Given the description of an element on the screen output the (x, y) to click on. 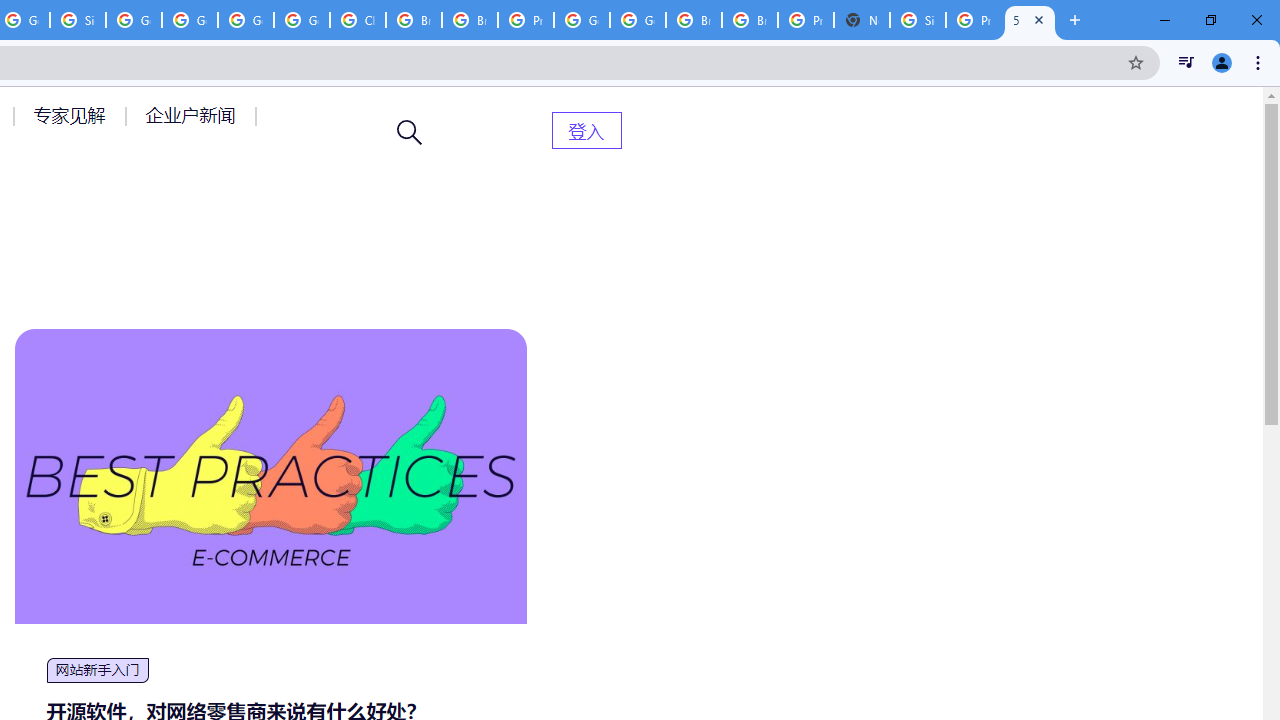
Google Cloud Platform (245, 20)
Browse Chrome as a guest - Computer - Google Chrome Help (693, 20)
Google Cloud Platform (582, 20)
Sign in - Google Accounts (917, 20)
